Given the description of an element on the screen output the (x, y) to click on. 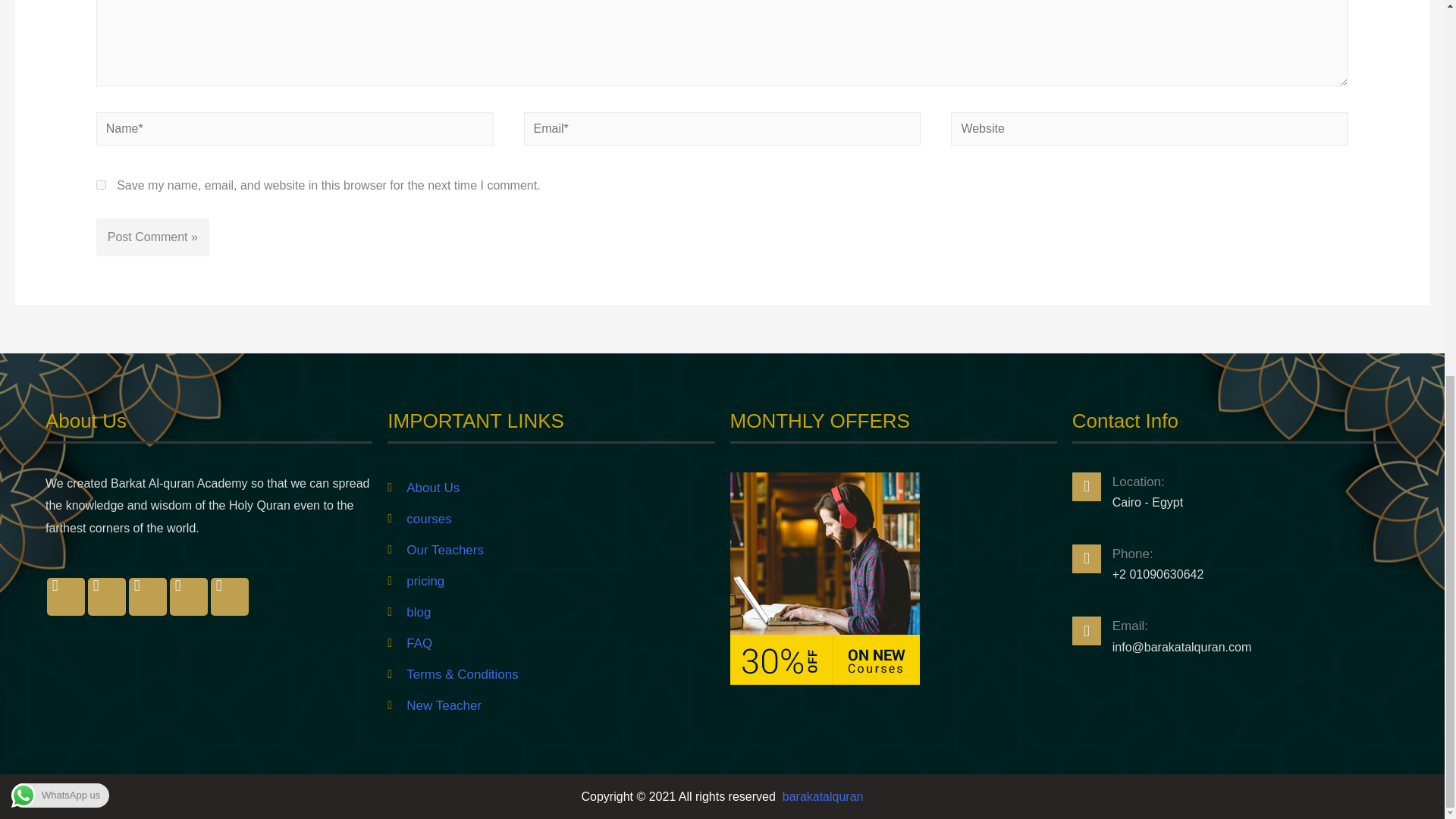
yes (101, 184)
